Given the description of an element on the screen output the (x, y) to click on. 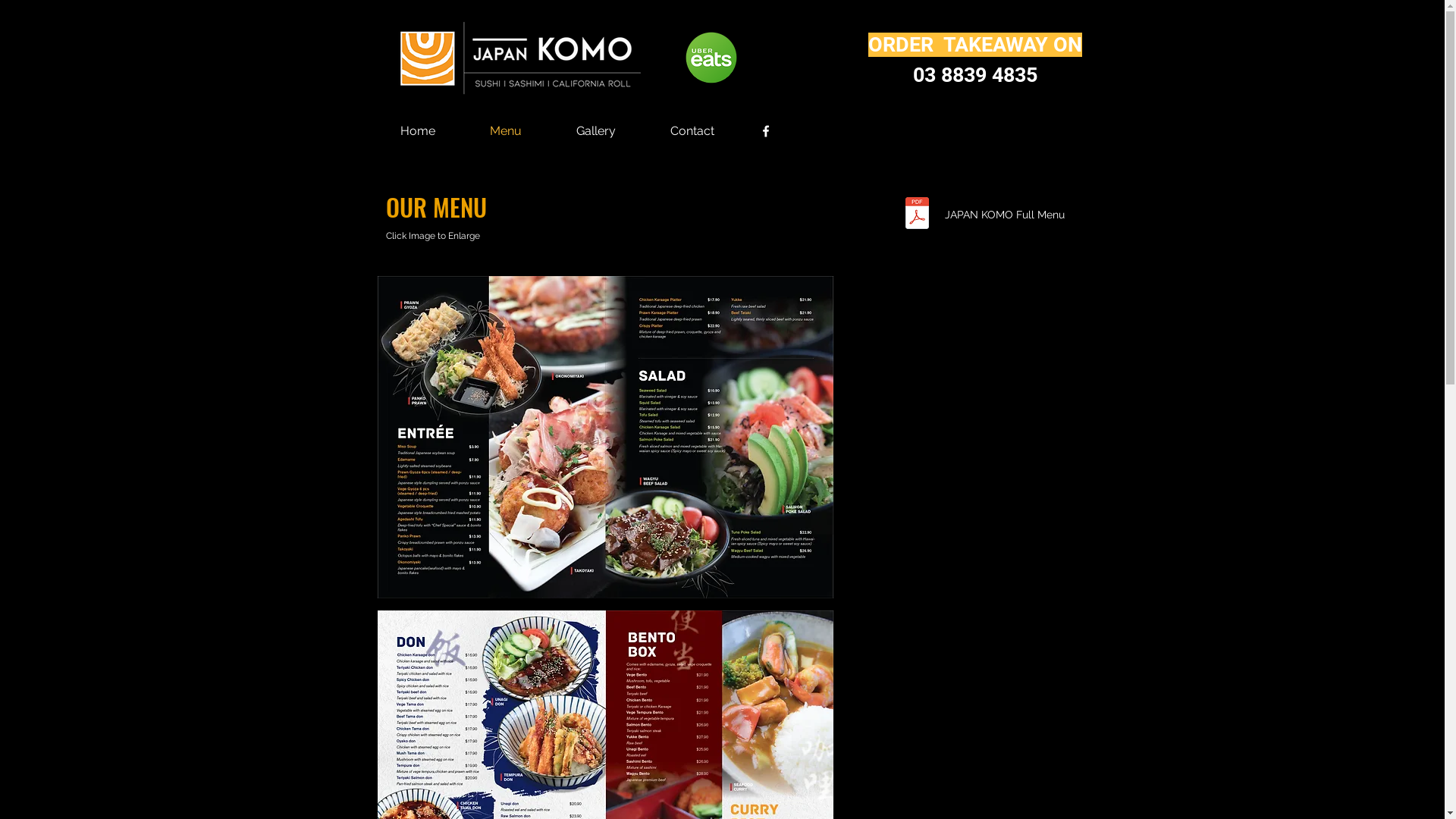
Contact Element type: text (691, 131)
Gallery Element type: text (595, 131)
komo_menu_2023_v2.pdf Element type: hover (915, 214)
Home Element type: text (417, 131)
Menu Element type: text (505, 131)
